Given the description of an element on the screen output the (x, y) to click on. 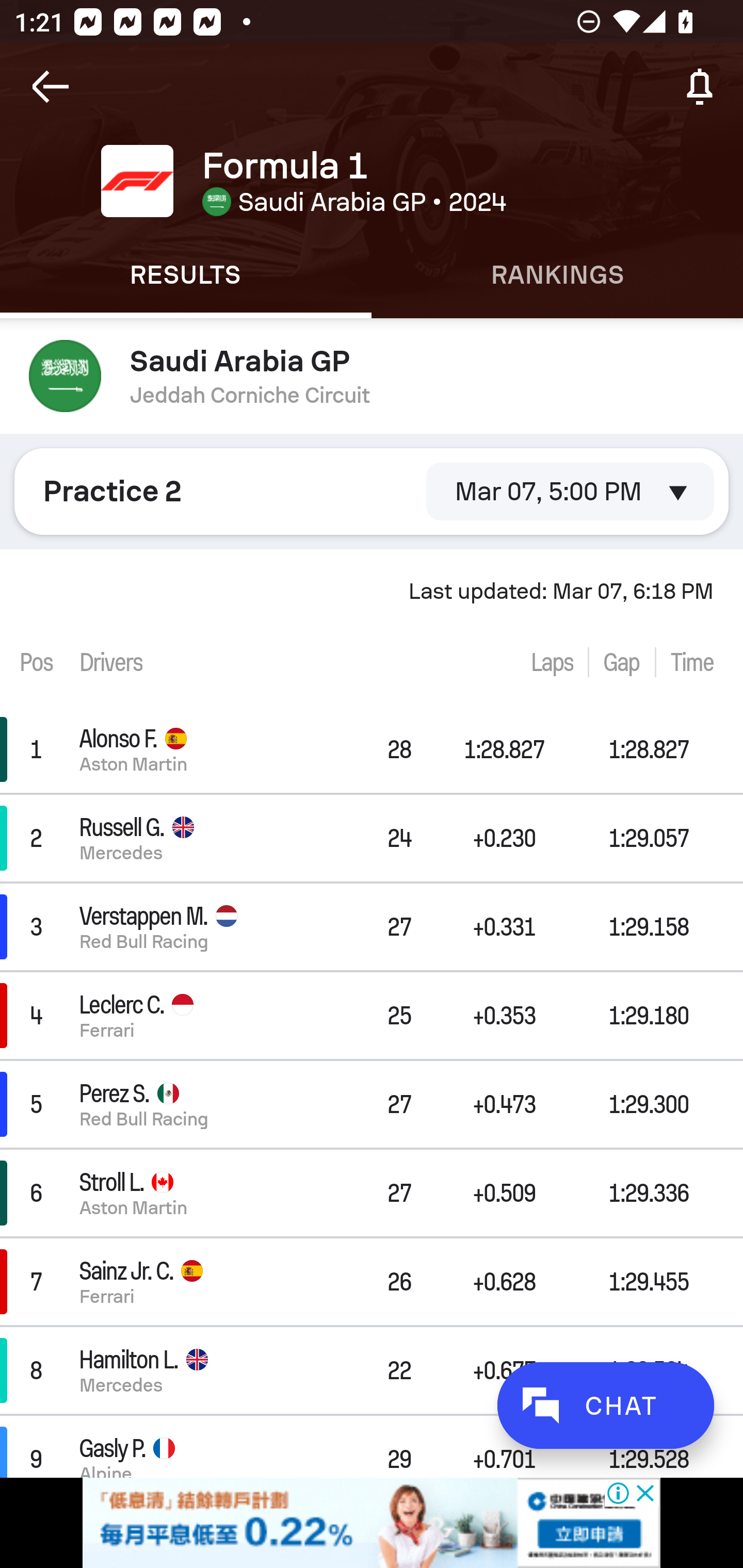
Navigate up (50, 86)
Rankings RANKINGS (557, 275)
Practice 2 Mar 07, 5:00 PM (371, 491)
Mar 07, 5:00 PM (570, 491)
1 Alonso F. Aston Martin 28 1:28.827 1:28.827 (371, 749)
2 Russell G. Mercedes 24 +0.230 1:29.057 (371, 837)
3 Verstappen M. Red Bull Racing 27 +0.331 1:29.158 (371, 926)
4 Leclerc C. Ferrari 25 +0.353 1:29.180 (371, 1015)
5 Perez S. Red Bull Racing 27 +0.473 1:29.300 (371, 1104)
6 Stroll L. Aston Martin 27 +0.509 1:29.336 (371, 1192)
7 Sainz Jr. C. Ferrari 26 +0.628 1:29.455 (371, 1281)
CHAT (605, 1405)
Advertisement (371, 1522)
